Given the description of an element on the screen output the (x, y) to click on. 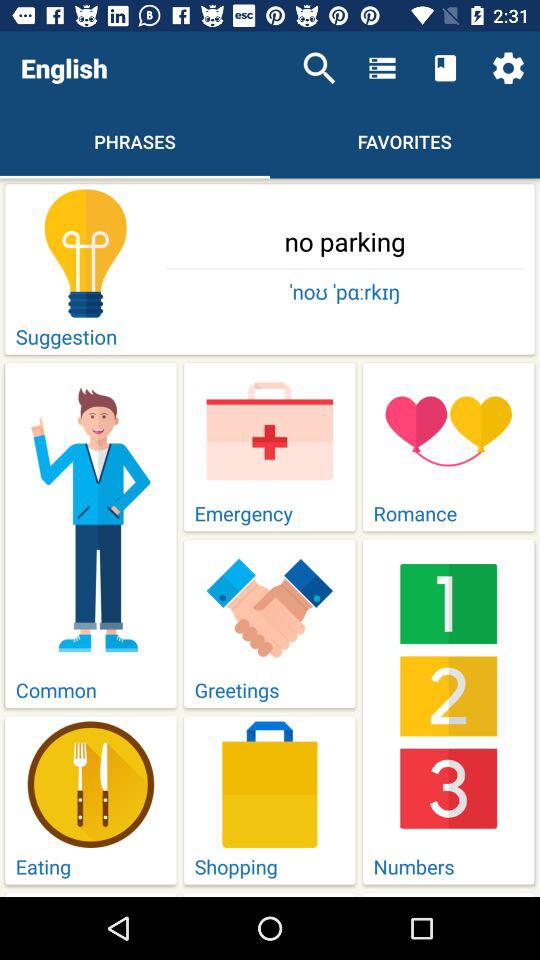
choose the item next to the english icon (319, 67)
